Given the description of an element on the screen output the (x, y) to click on. 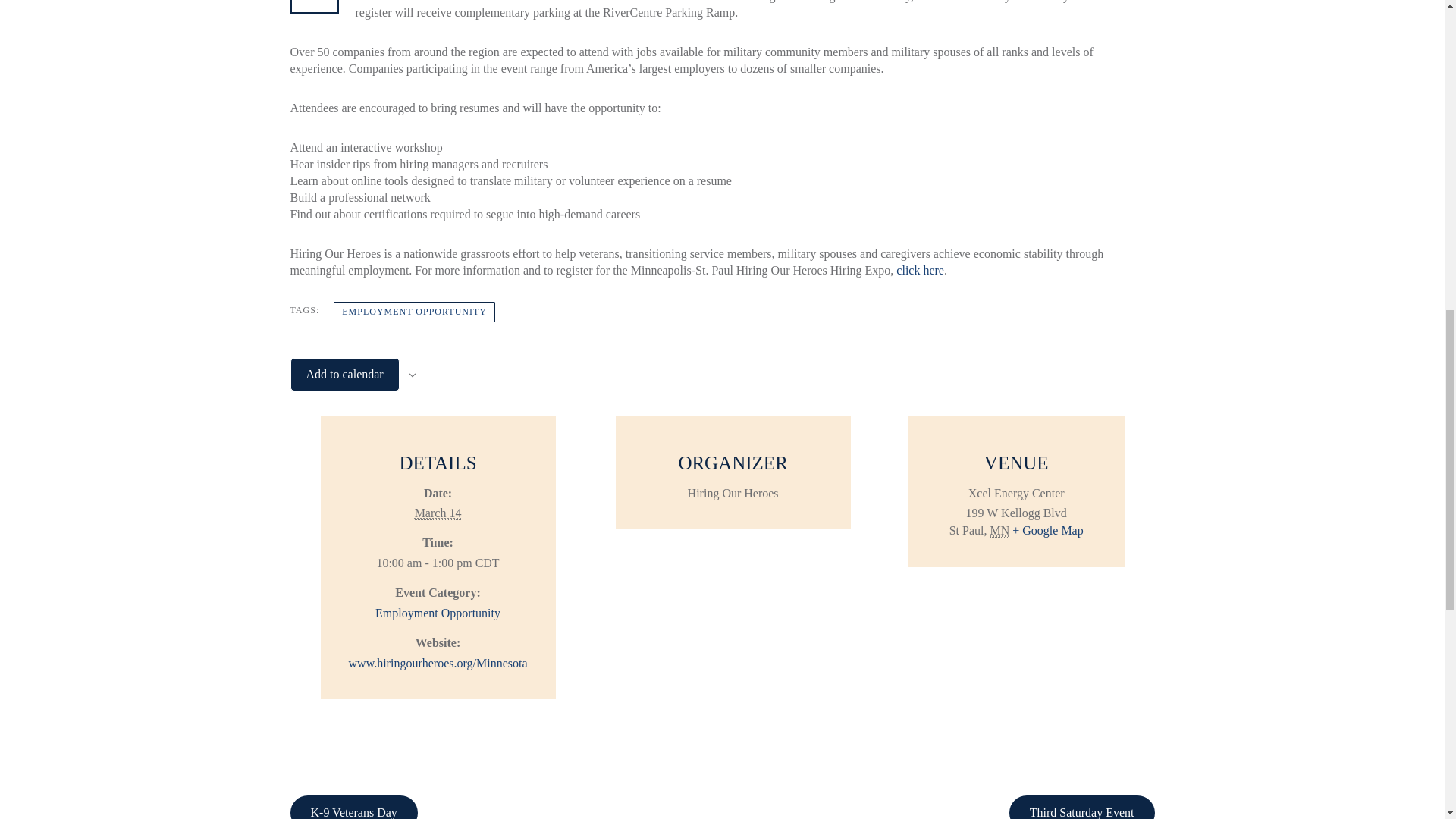
Minnesota (999, 530)
2024-03-14 (437, 513)
2024-03-14 (437, 563)
Click to view a Google Map (1047, 530)
